Given the description of an element on the screen output the (x, y) to click on. 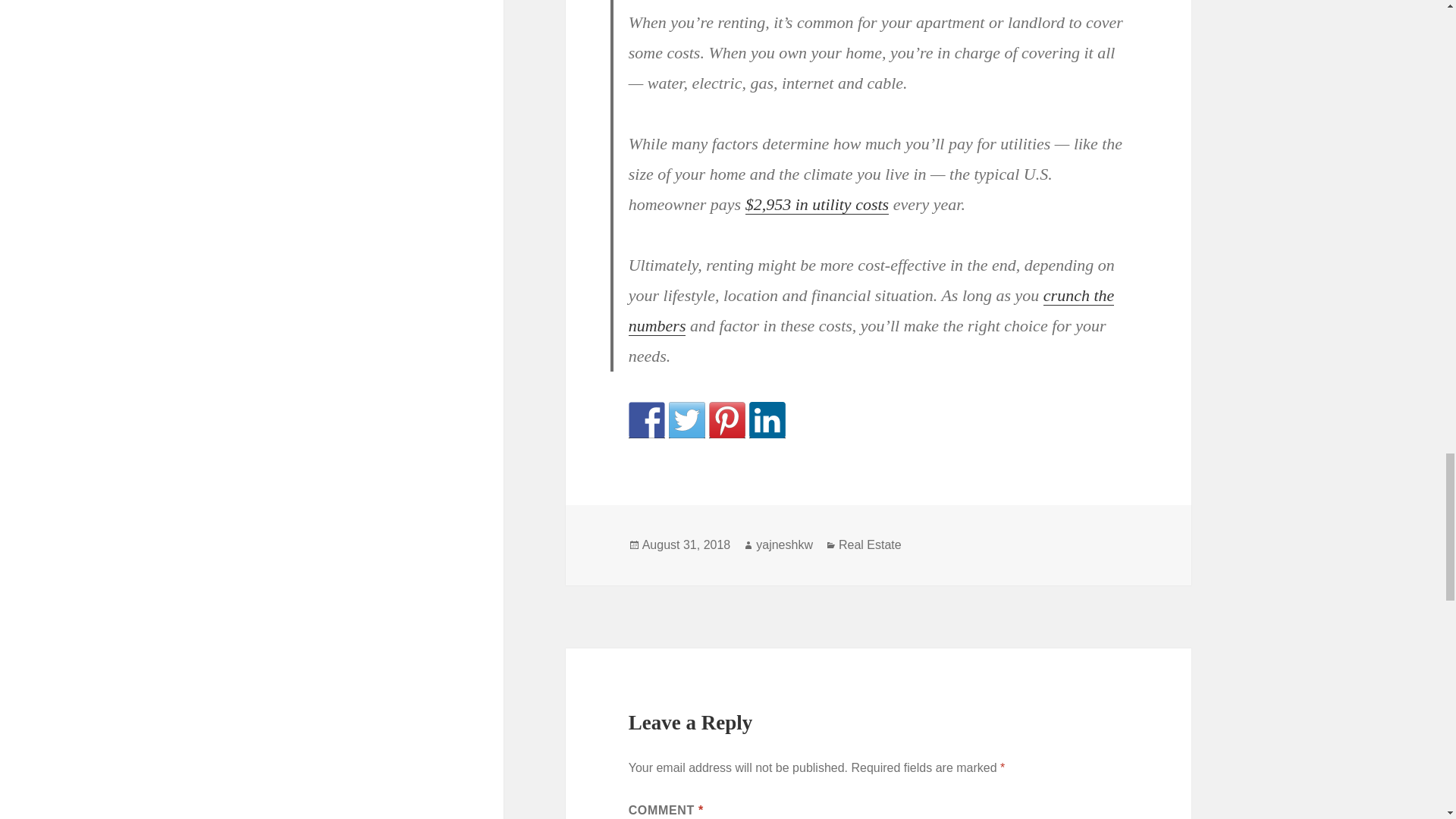
crunch the numbers (871, 310)
August 31, 2018 (686, 545)
Real Estate (869, 545)
Share on Facebook (646, 420)
Share on Twitter (686, 420)
yajneshkw (783, 545)
